Given the description of an element on the screen output the (x, y) to click on. 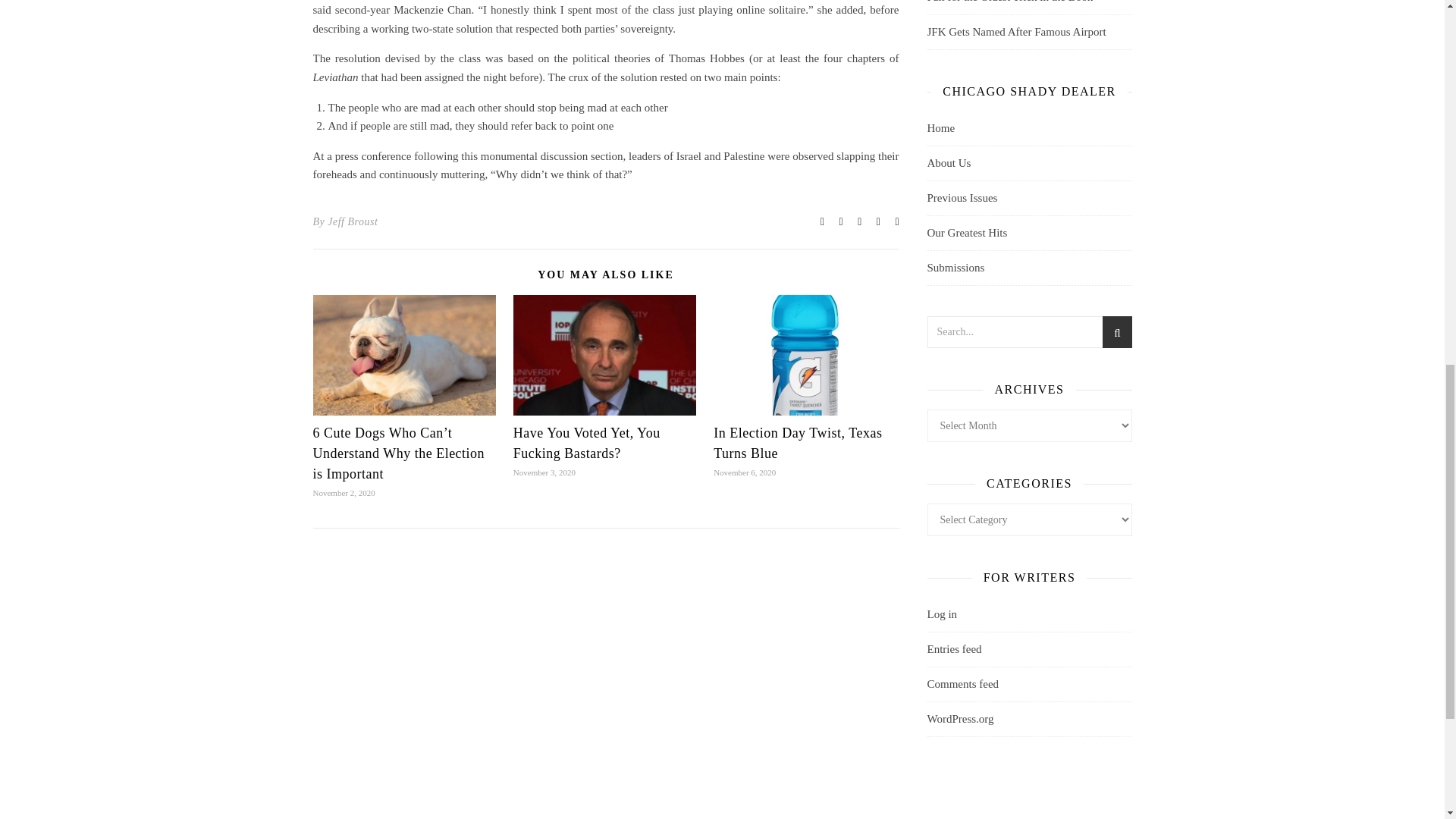
In Election Day Twist, Texas Turns Blue (797, 443)
Jeff Broust (352, 221)
Posts by Jeff Broust (352, 221)
Have You Voted Yet, You Fucking Bastards? (587, 443)
JFK Gets Named After Famous Airport (1015, 31)
